Given the description of an element on the screen output the (x, y) to click on. 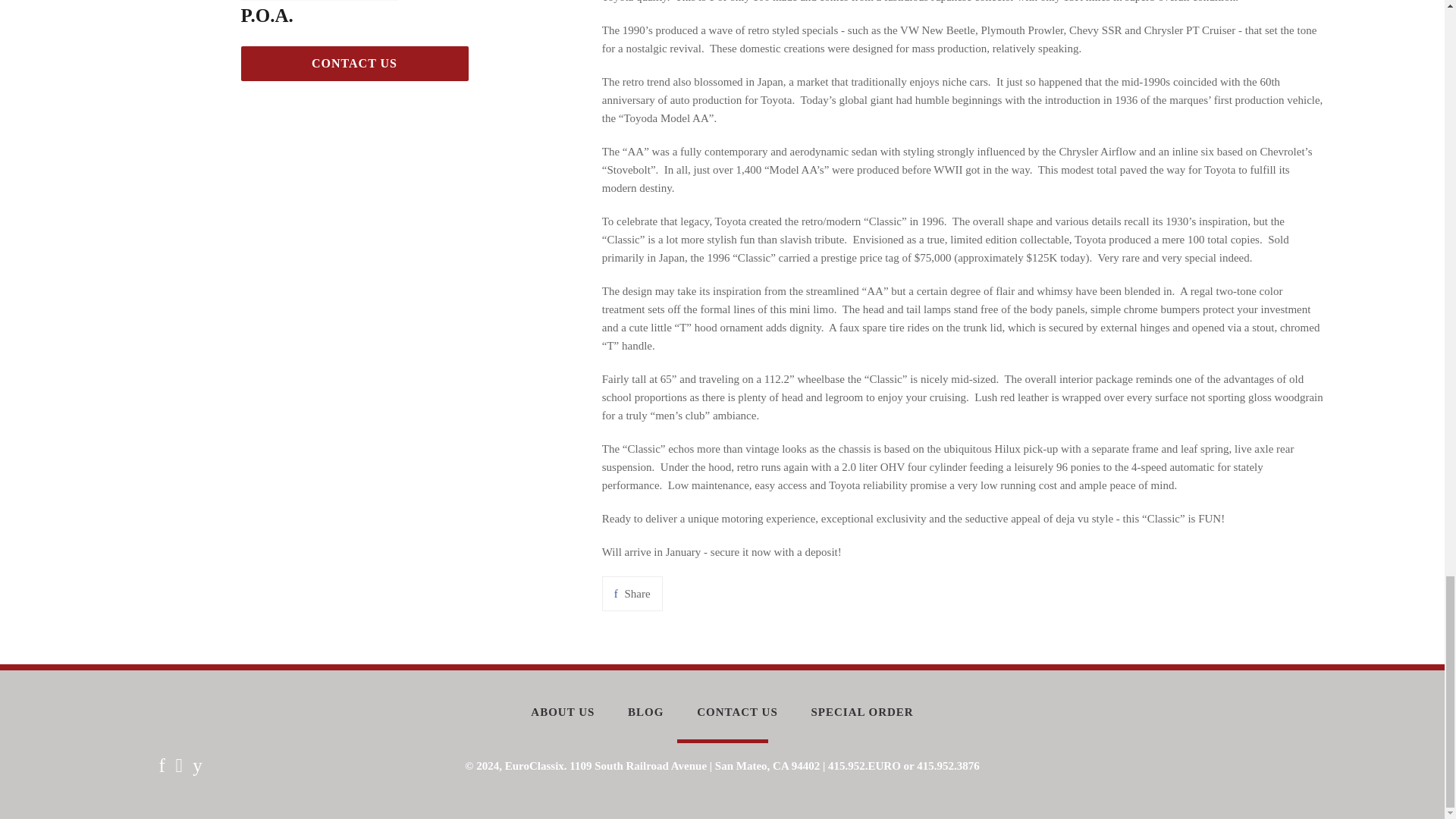
CONTACT US (354, 63)
BLOG (645, 712)
ABOUT US (562, 712)
EuroClassix (534, 766)
SPECIAL ORDER (862, 712)
Share on Facebook (632, 593)
CONTACT US (632, 593)
